Given the description of an element on the screen output the (x, y) to click on. 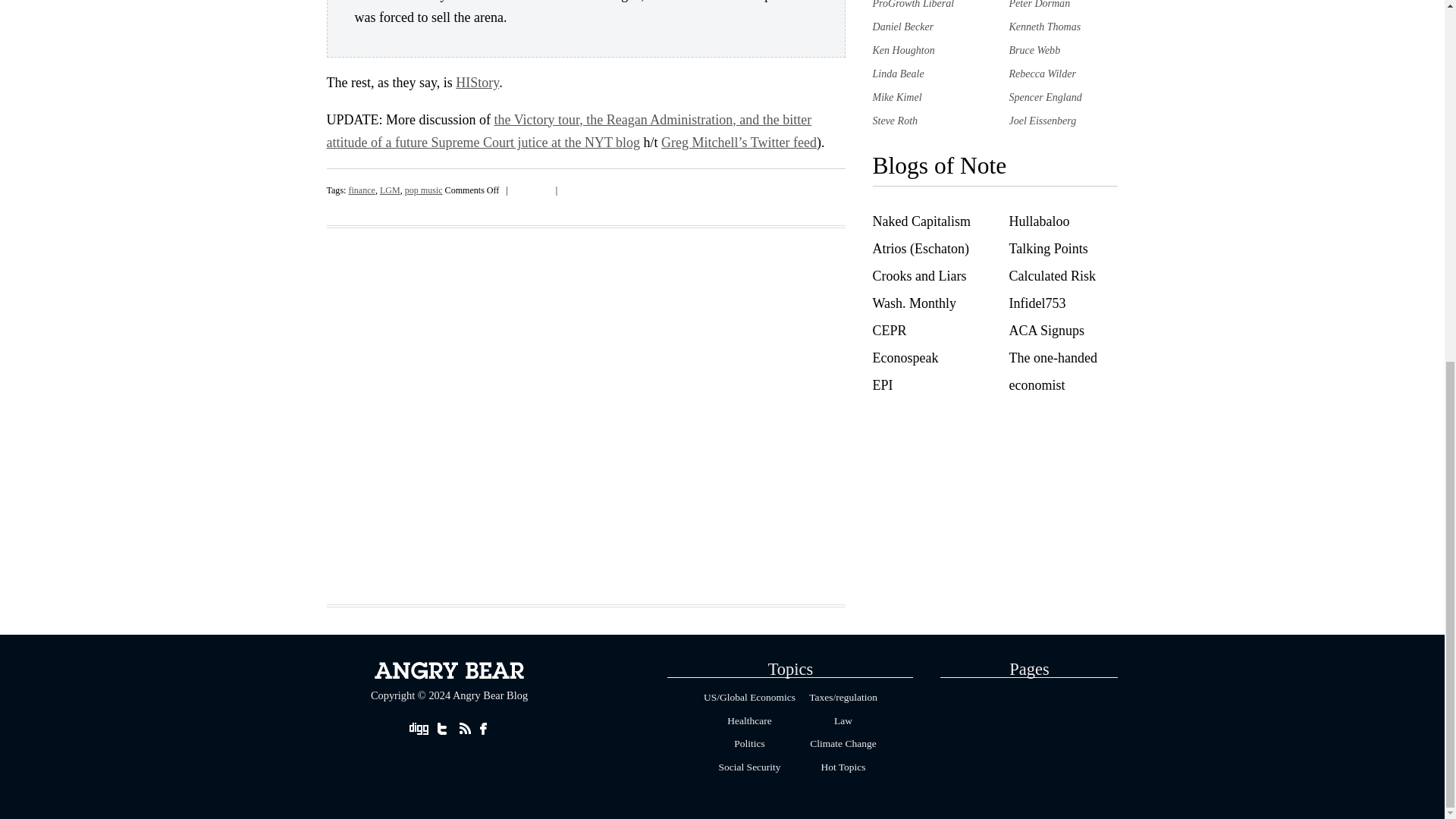
ProGrowth Liberal (912, 4)
LGM (390, 190)
Daniel Becker (902, 26)
pop music (423, 190)
finance (360, 190)
Linda Beale (897, 73)
Twitter (543, 187)
Facebook (532, 187)
Ken Houghton (903, 50)
Digg (519, 187)
HIStory (477, 82)
Mike Kimel (896, 96)
